Given the description of an element on the screen output the (x, y) to click on. 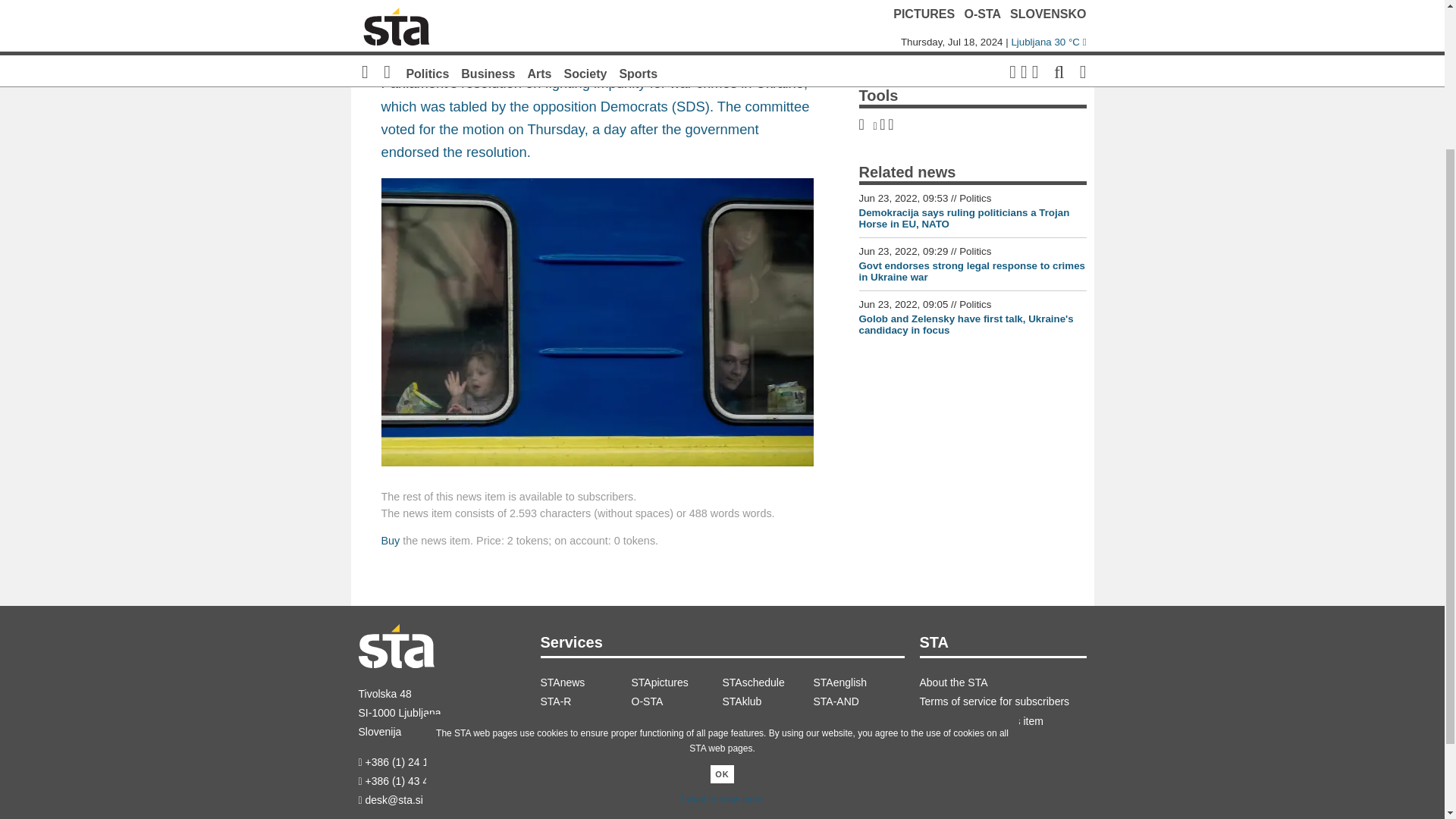
Govt endorses strong legal response to crimes in Ukraine war (971, 271)
STA-R (585, 701)
STA-AND (858, 701)
STAklub (767, 701)
STAenglish (858, 682)
STA-M (858, 721)
O-STA (676, 701)
STAmisli (676, 721)
Buy (389, 540)
STApictures (676, 682)
STAschedule (767, 682)
STAnews (585, 682)
Public service (767, 721)
